Given the description of an element on the screen output the (x, y) to click on. 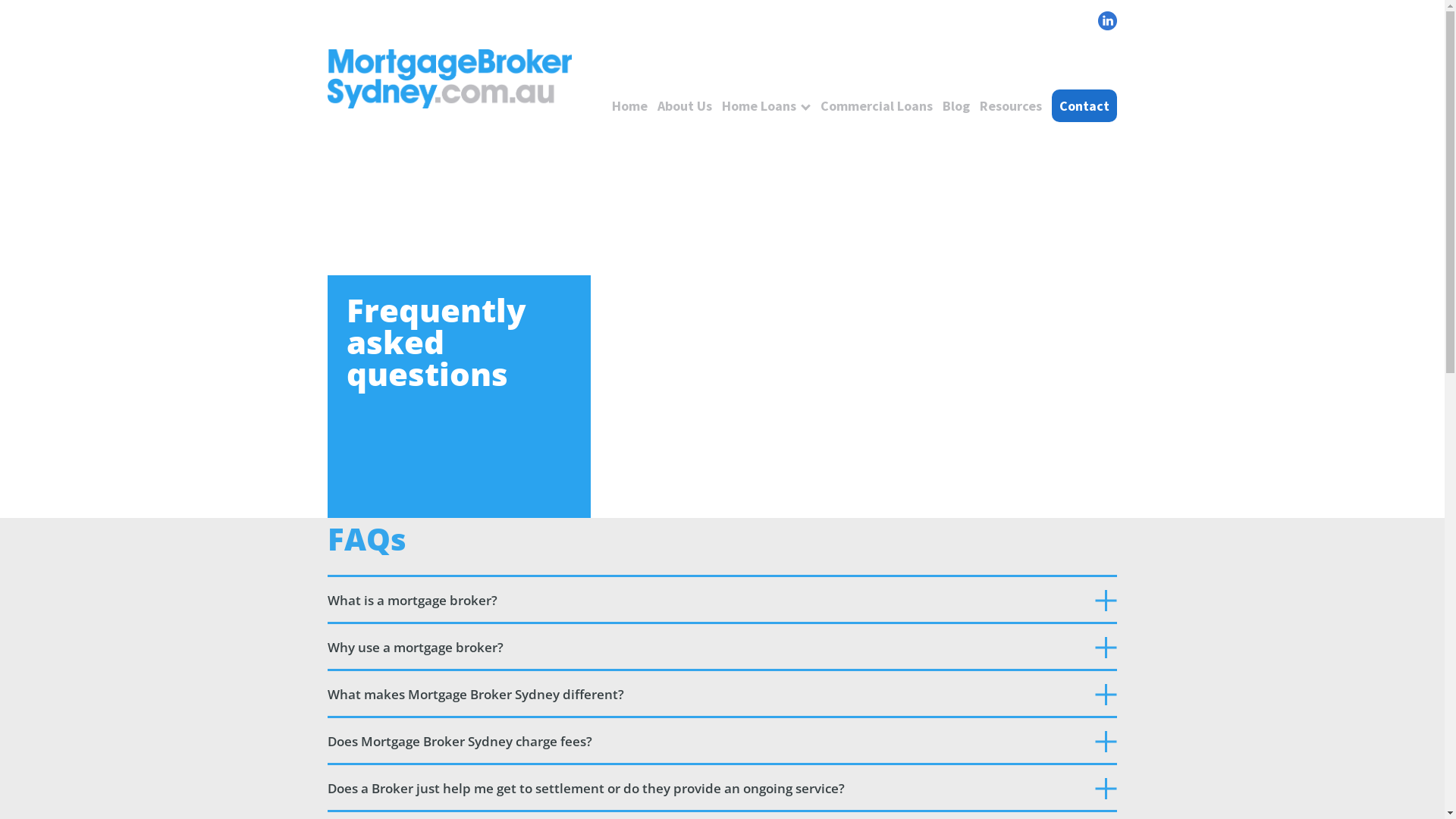
Blog Element type: text (955, 105)
logo Element type: text (449, 79)
About Us Element type: text (684, 105)
Home Loans Element type: text (758, 105)
Resources Element type: text (1010, 105)
Home Element type: text (629, 105)
Contact Element type: text (1084, 105)
Commercial Loans Element type: text (876, 105)
